Given the description of an element on the screen output the (x, y) to click on. 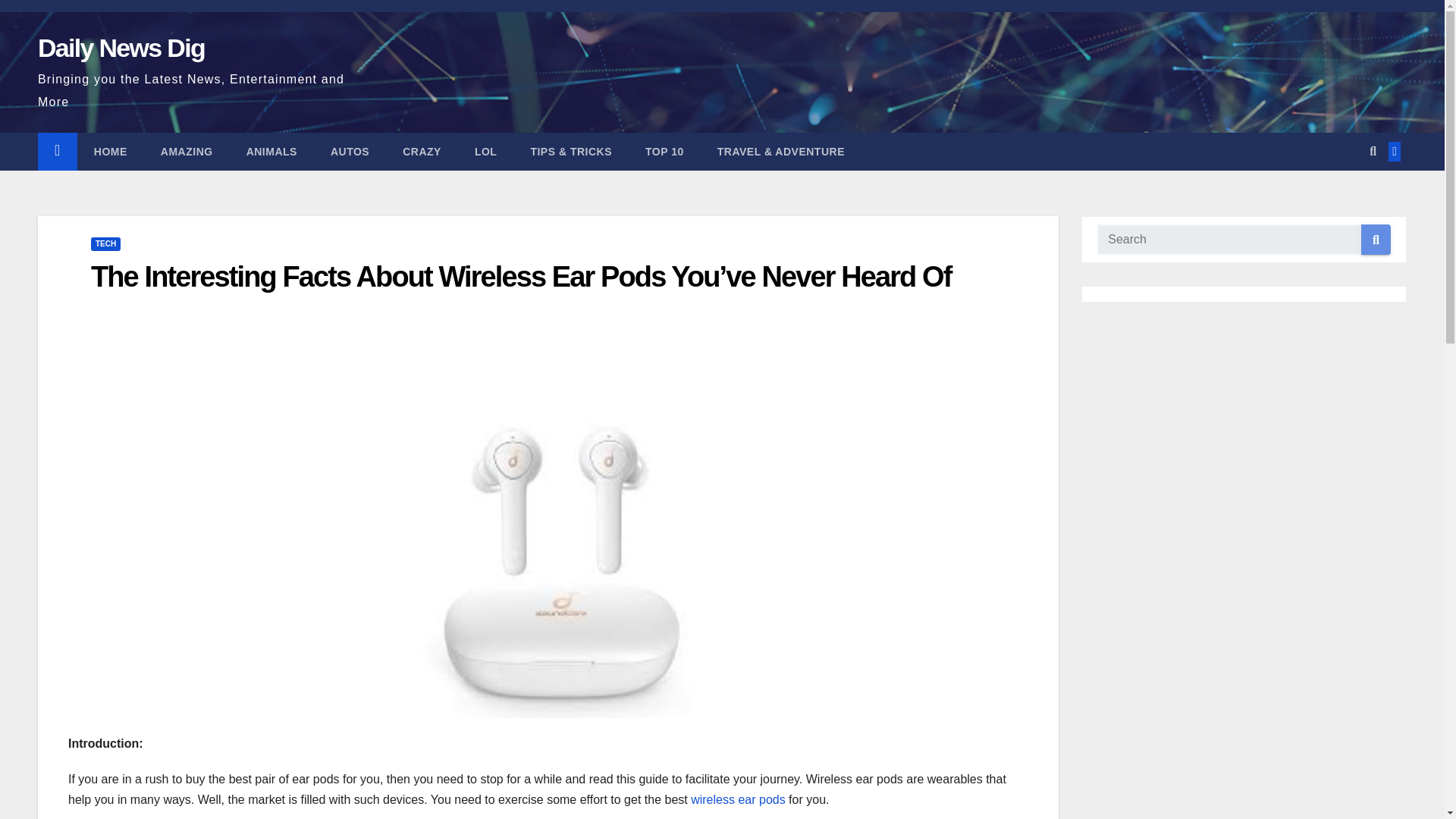
AMAZING (187, 151)
AMAZING (187, 151)
Daily News Dig (121, 47)
LOL (485, 151)
Crazy (421, 151)
HOME (110, 151)
Home (110, 151)
ANIMALS (272, 151)
TOP 10 (664, 151)
CRAZY (421, 151)
